Given the description of an element on the screen output the (x, y) to click on. 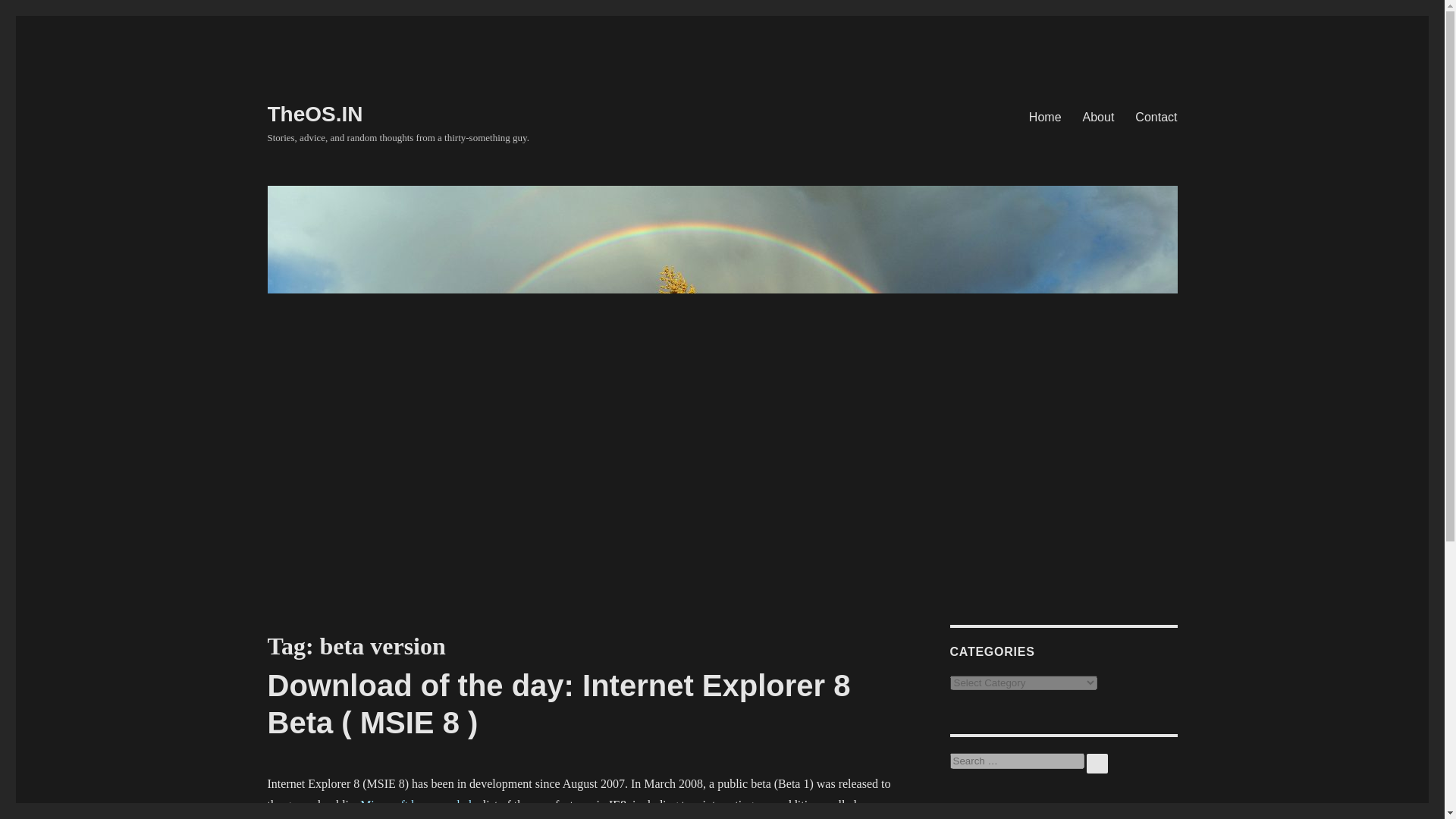
Home (1044, 116)
SEARCH (1097, 763)
About (1098, 116)
TheOS.IN (314, 114)
Contact (1156, 116)
Microsoft has revealed (415, 804)
